Given the description of an element on the screen output the (x, y) to click on. 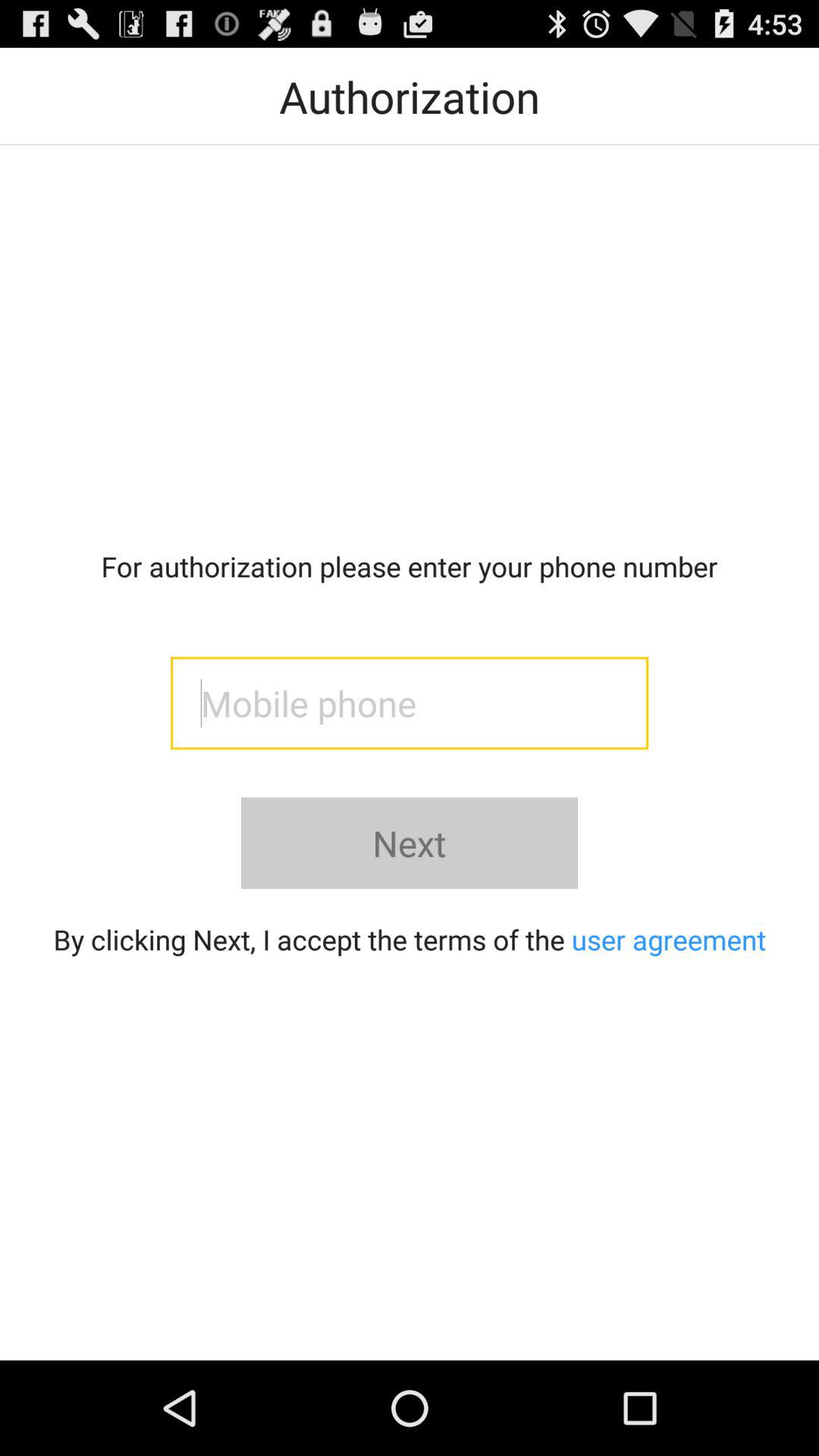
open icon below the for authorization please item (409, 702)
